Given the description of an element on the screen output the (x, y) to click on. 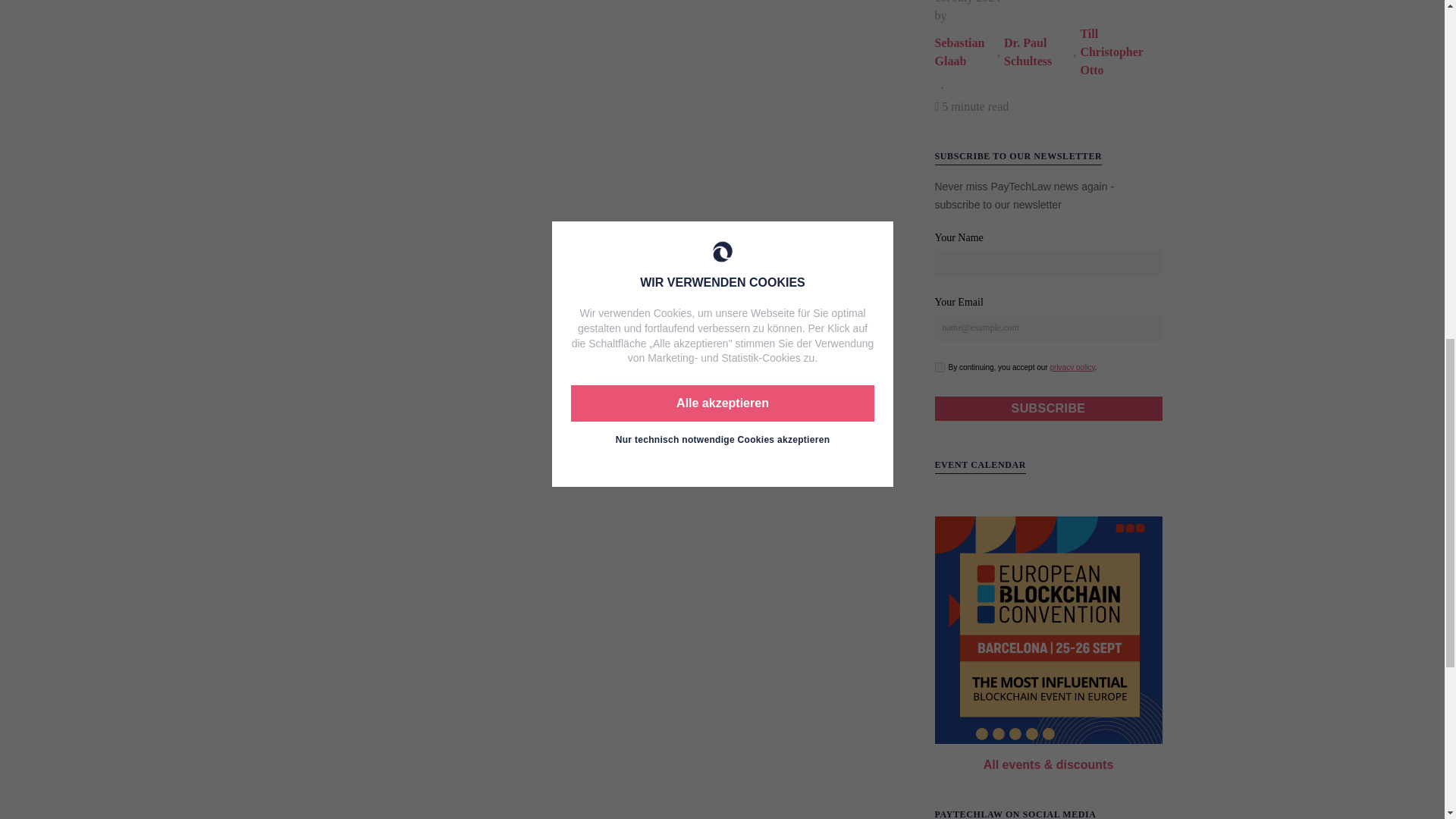
View all posts by Till Christopher Otto (1120, 52)
View all posts by Sebastian Glaab (965, 52)
View all posts by Dr. Paul Schultess (1038, 52)
By continuing, you accept our privacy policy. (938, 367)
